Given the description of an element on the screen output the (x, y) to click on. 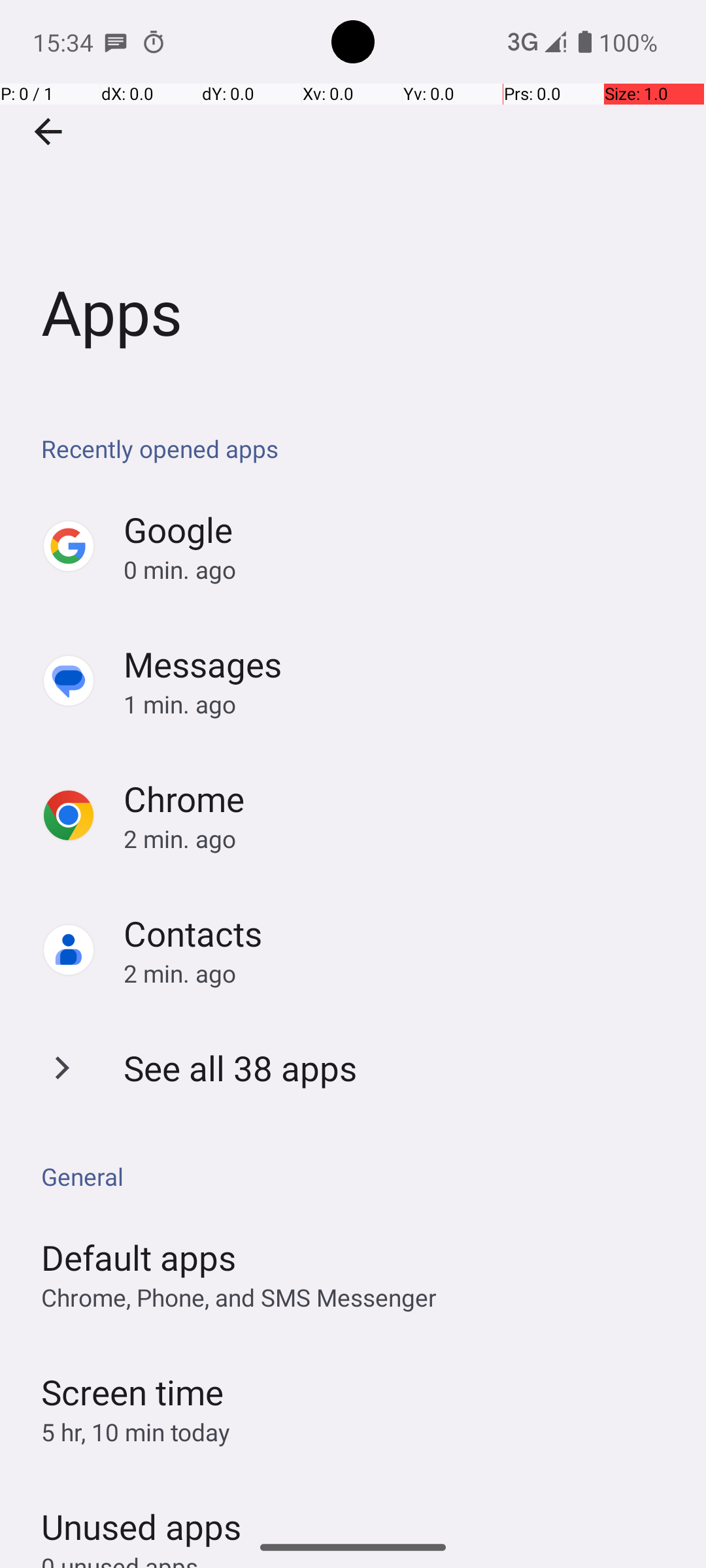
See all 38 apps Element type: android.widget.TextView (239, 1067)
5 hr, 10 min today Element type: android.widget.TextView (135, 1431)
